Given the description of an element on the screen output the (x, y) to click on. 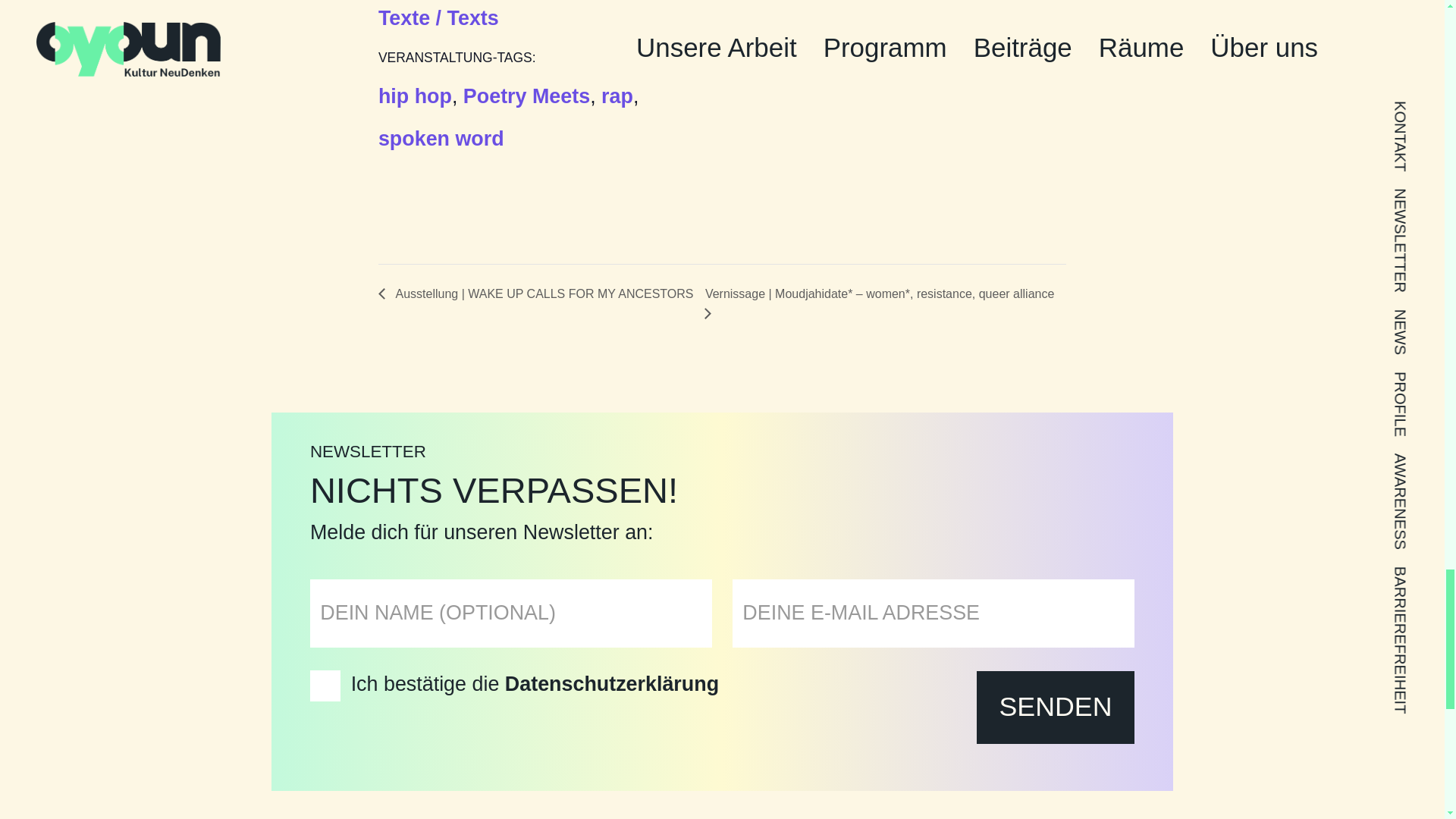
Poetry Meets (526, 97)
SENDEN (1055, 707)
spoken word (440, 139)
rap (617, 97)
hip hop (414, 97)
